Given the description of an element on the screen output the (x, y) to click on. 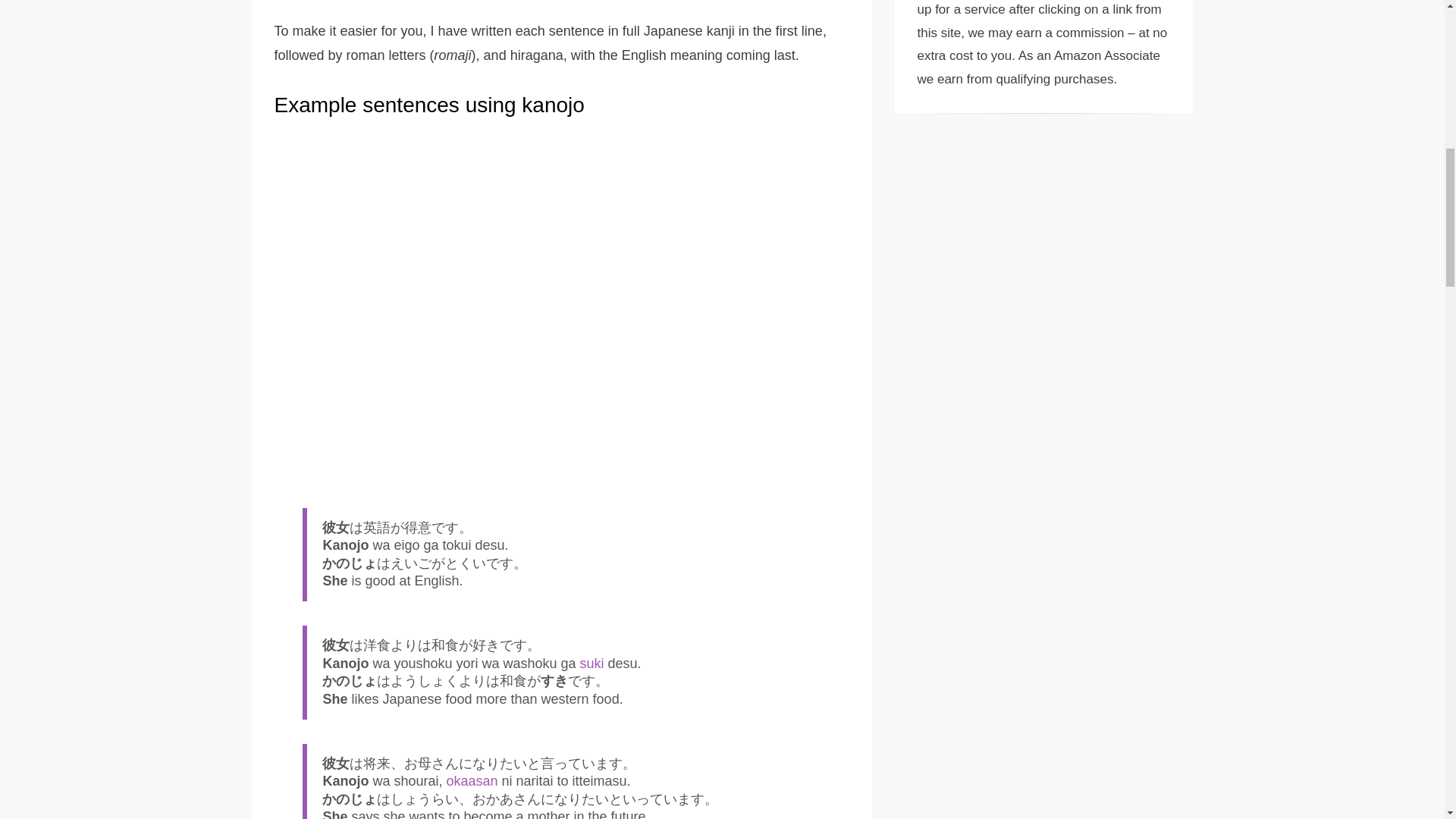
okaasan (471, 780)
suki (591, 663)
